Given the description of an element on the screen output the (x, y) to click on. 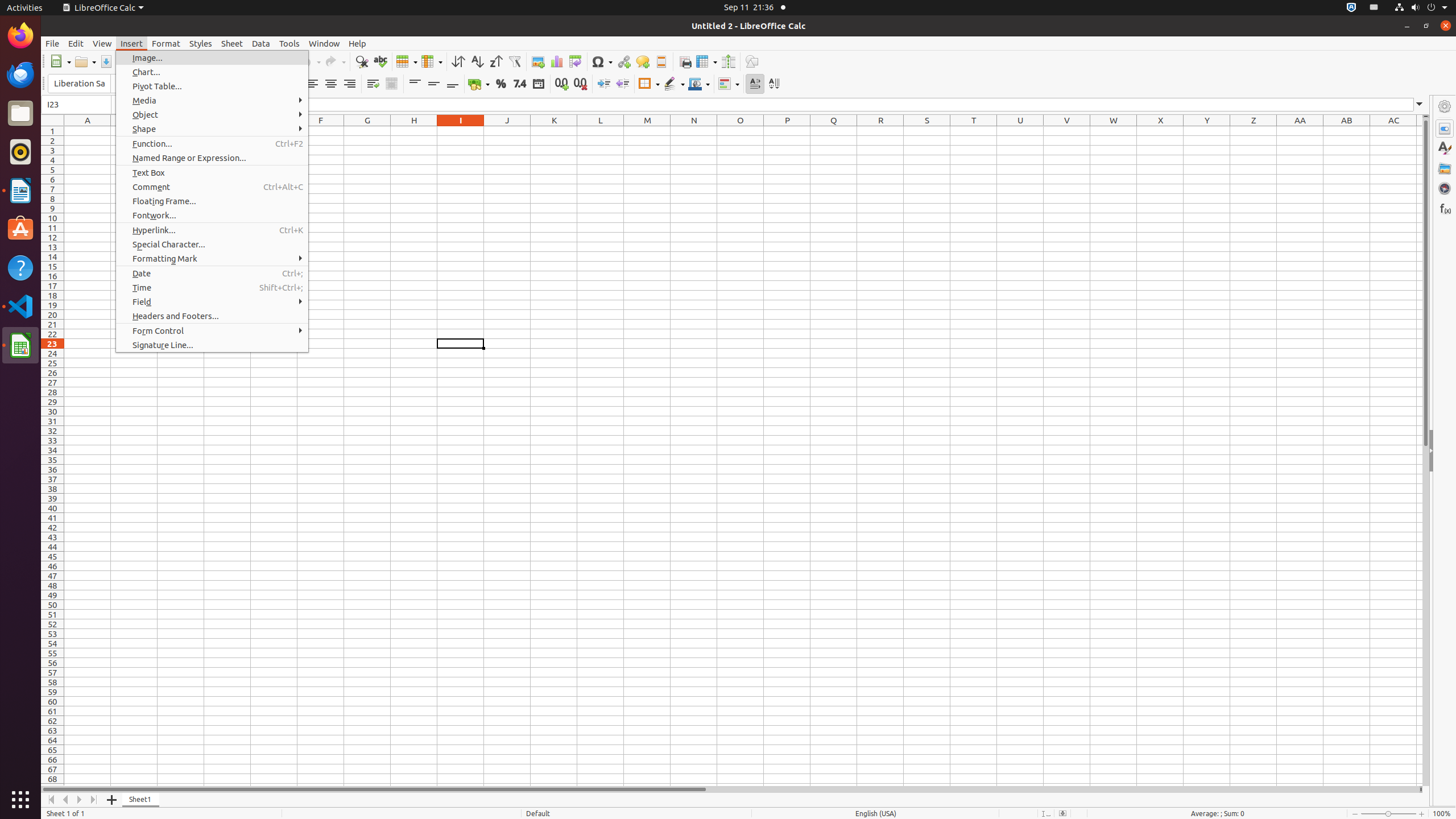
Wrap Text Element type: push-button (372, 83)
Delete Decimal Place Element type: push-button (580, 83)
Increase Element type: push-button (603, 83)
Align Top Element type: push-button (414, 83)
N1 Element type: table-cell (693, 130)
